Given the description of an element on the screen output the (x, y) to click on. 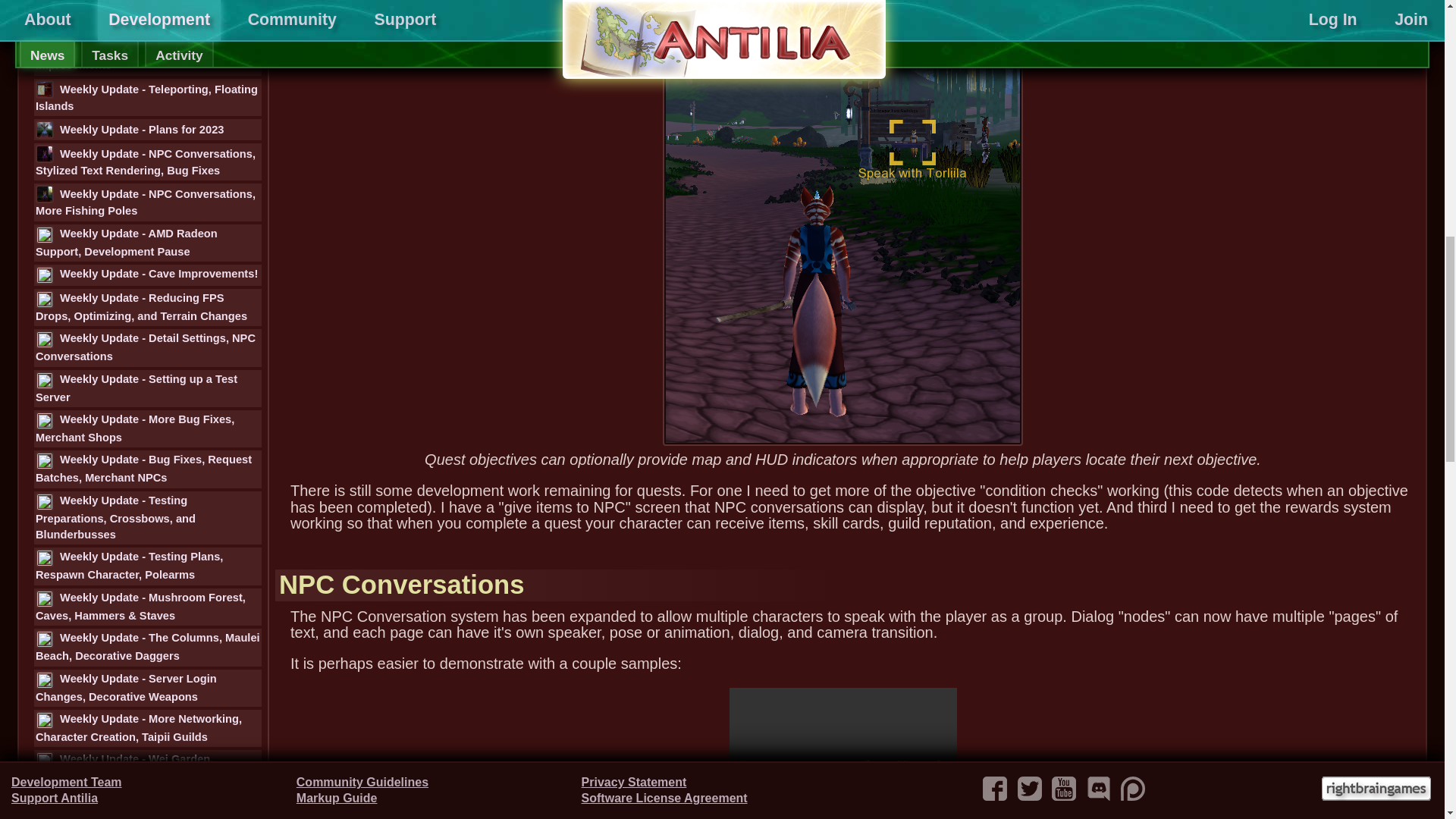
Weekly Update - Setting up a Test Server (147, 388)
Weekly Update - Teleporting, Floating Islands (147, 97)
Weekly Update - Character Switching, Behavior Editor (147, 17)
Weekly Update - Plans for 2023 (147, 129)
Weekly Update - NPC Conversations, More Fishing Poles (147, 201)
Weekly Update - Bug Fixes, Request Batches, Merchant NPCs (147, 468)
Weekly Update - More Bug Fixes, Merchant Shops (147, 428)
